Given the description of an element on the screen output the (x, y) to click on. 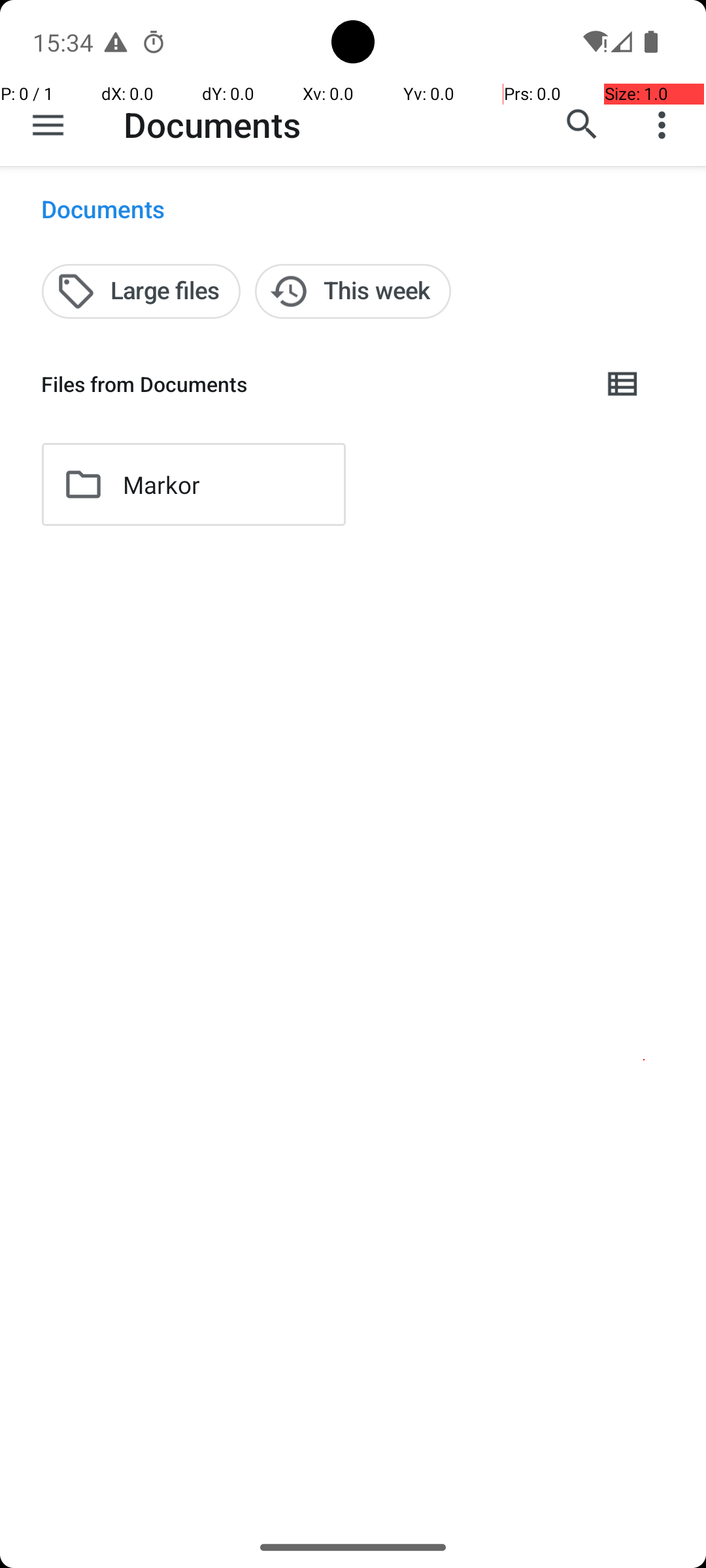
Files from Documents Element type: android.widget.TextView (311, 383)
Android System notification:  Element type: android.widget.ImageView (115, 41)
